Given the description of an element on the screen output the (x, y) to click on. 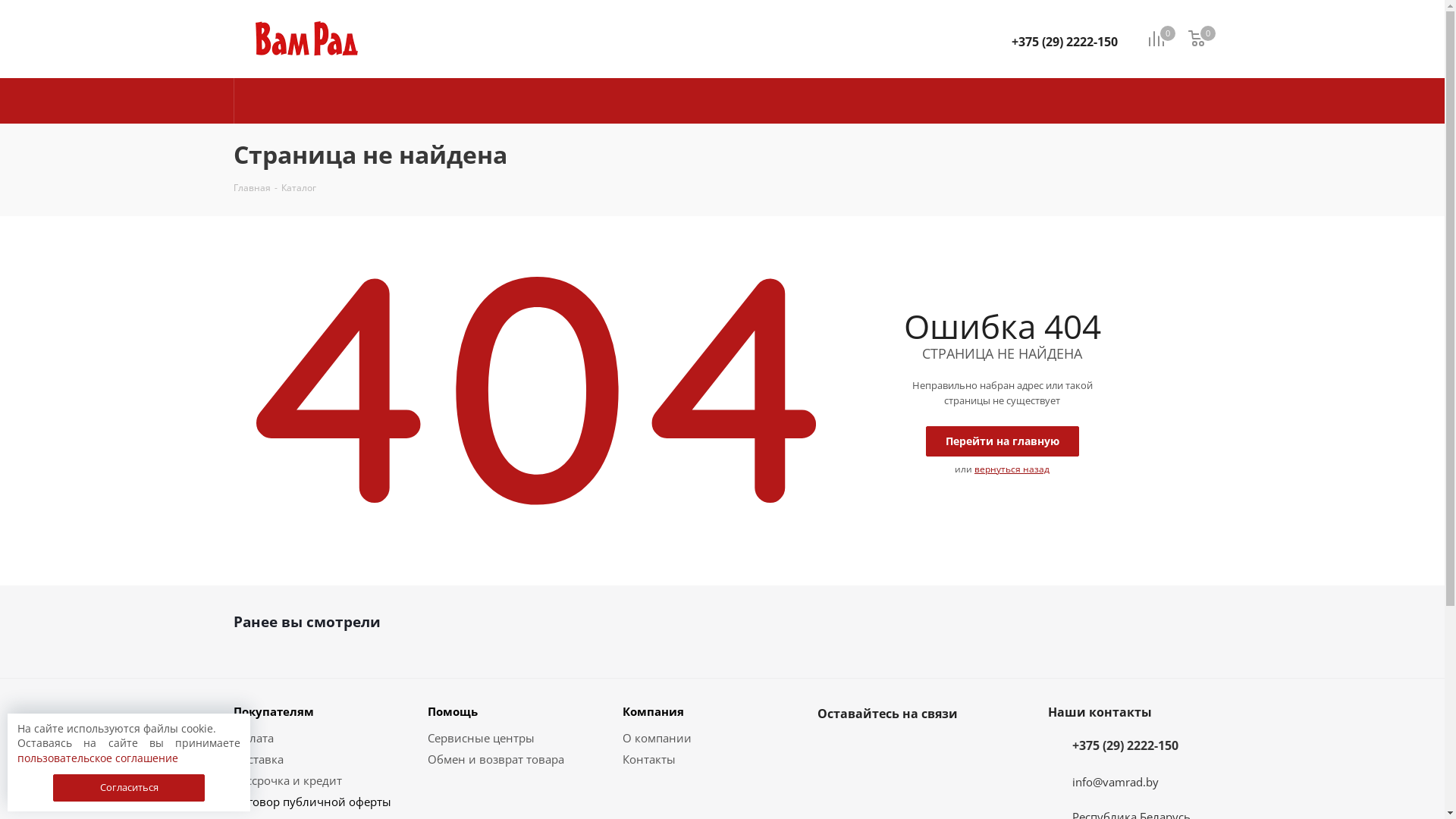
+375 (29) 2222-150 Element type: text (1125, 746)
+375 (29) 2222-150 Element type: text (1064, 41)
Instagram Element type: text (908, 749)
info@vamrad.by Element type: text (1115, 781)
Facebook Element type: text (870, 749)
